Given the description of an element on the screen output the (x, y) to click on. 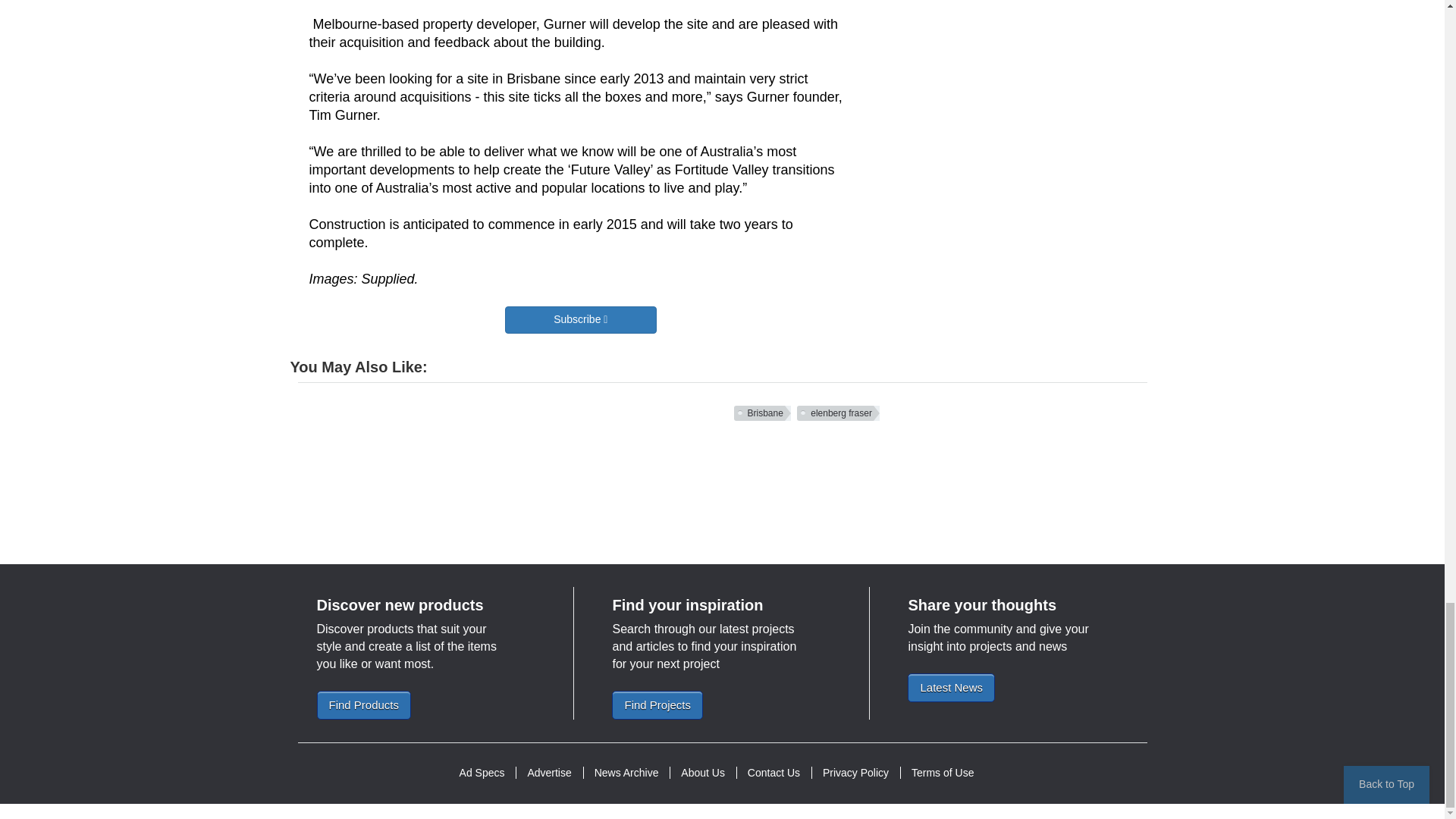
3rd party ad content (721, 482)
